Given the description of an element on the screen output the (x, y) to click on. 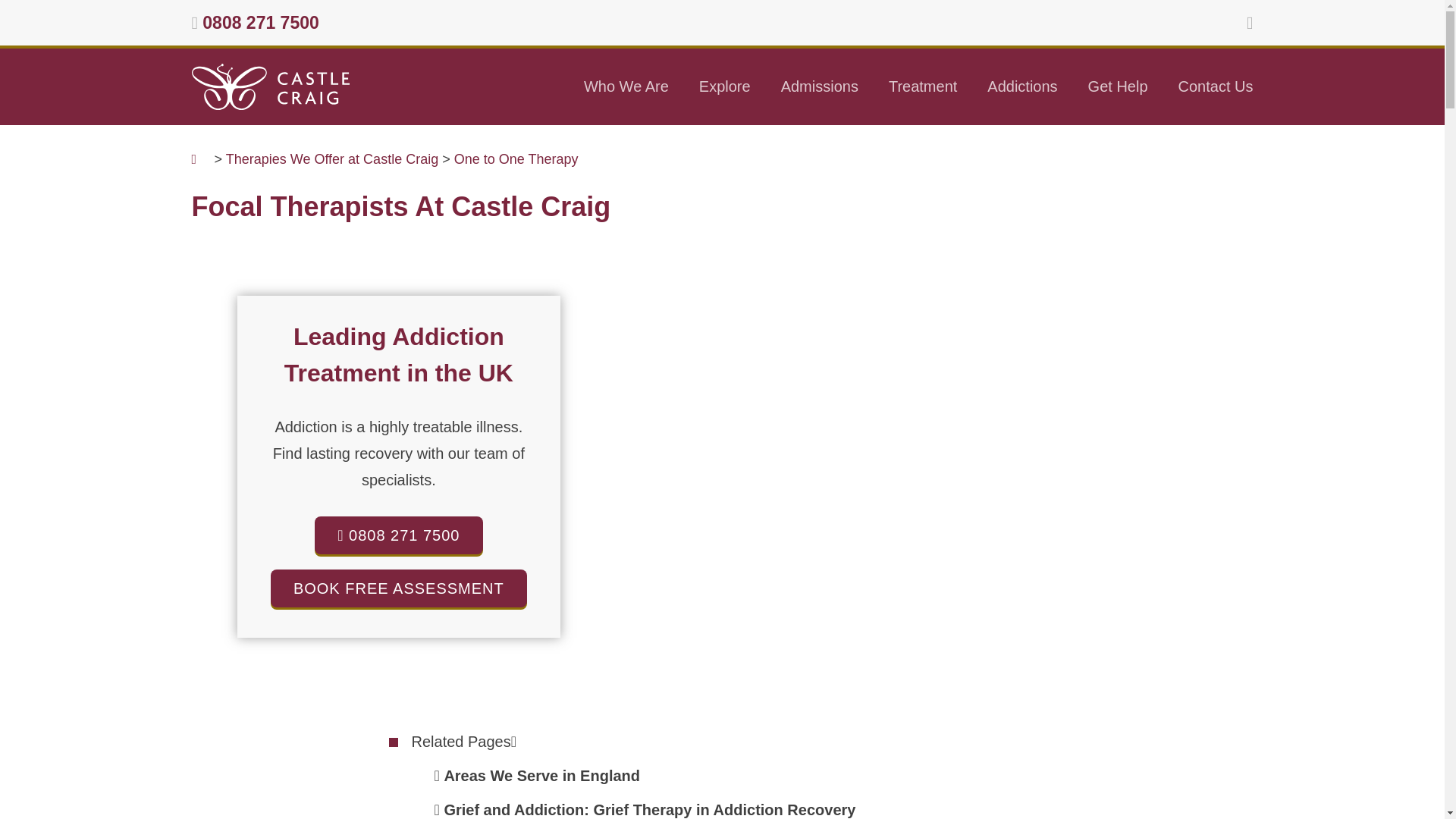
Who We Are (626, 86)
Addictions (1021, 86)
Admissions (819, 86)
Treatment (922, 86)
Explore (724, 86)
0808 271 7500 (260, 22)
Call Castle Craig (260, 22)
Castle Craig (269, 85)
